Given the description of an element on the screen output the (x, y) to click on. 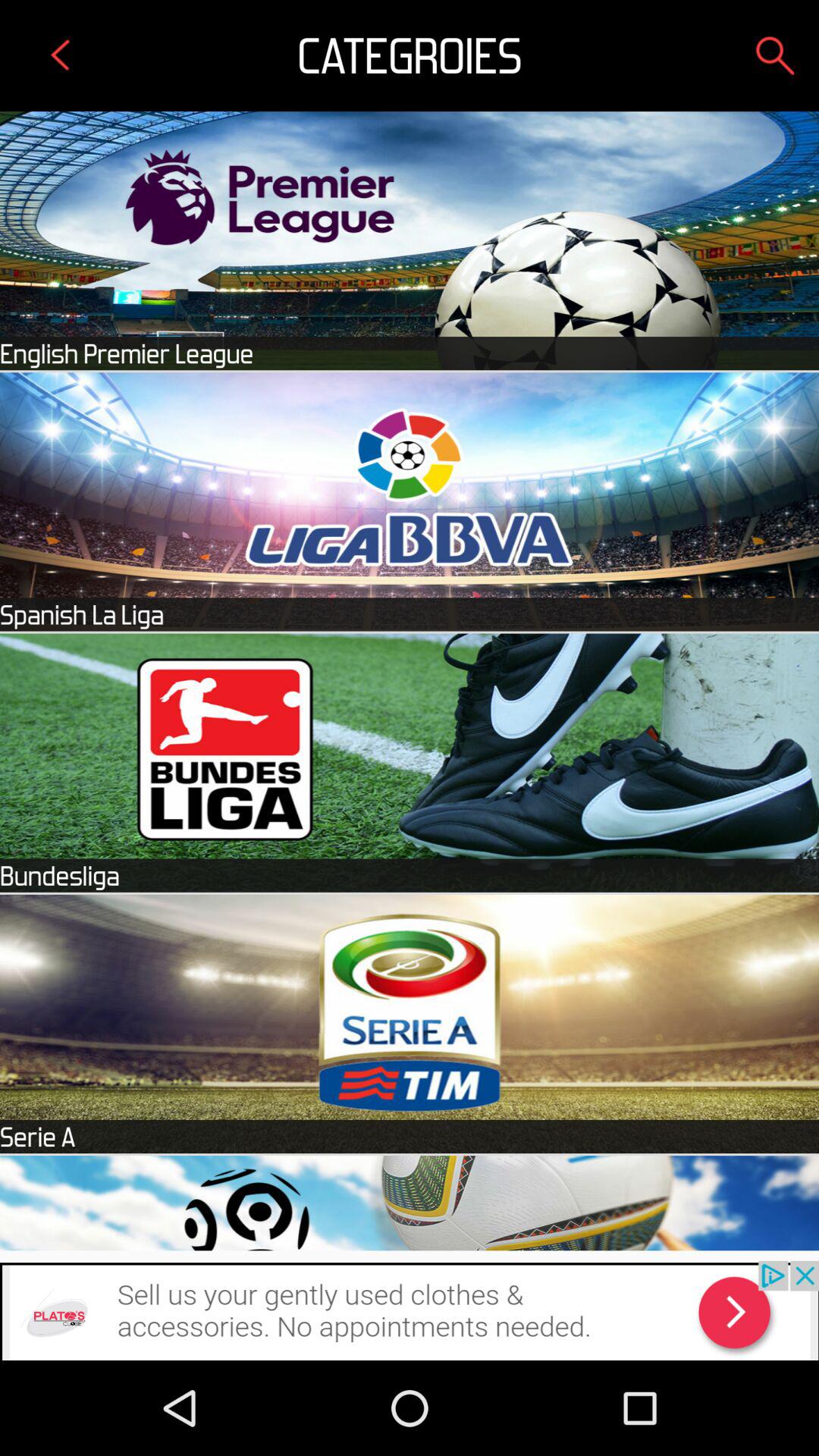
go back (61, 55)
